Given the description of an element on the screen output the (x, y) to click on. 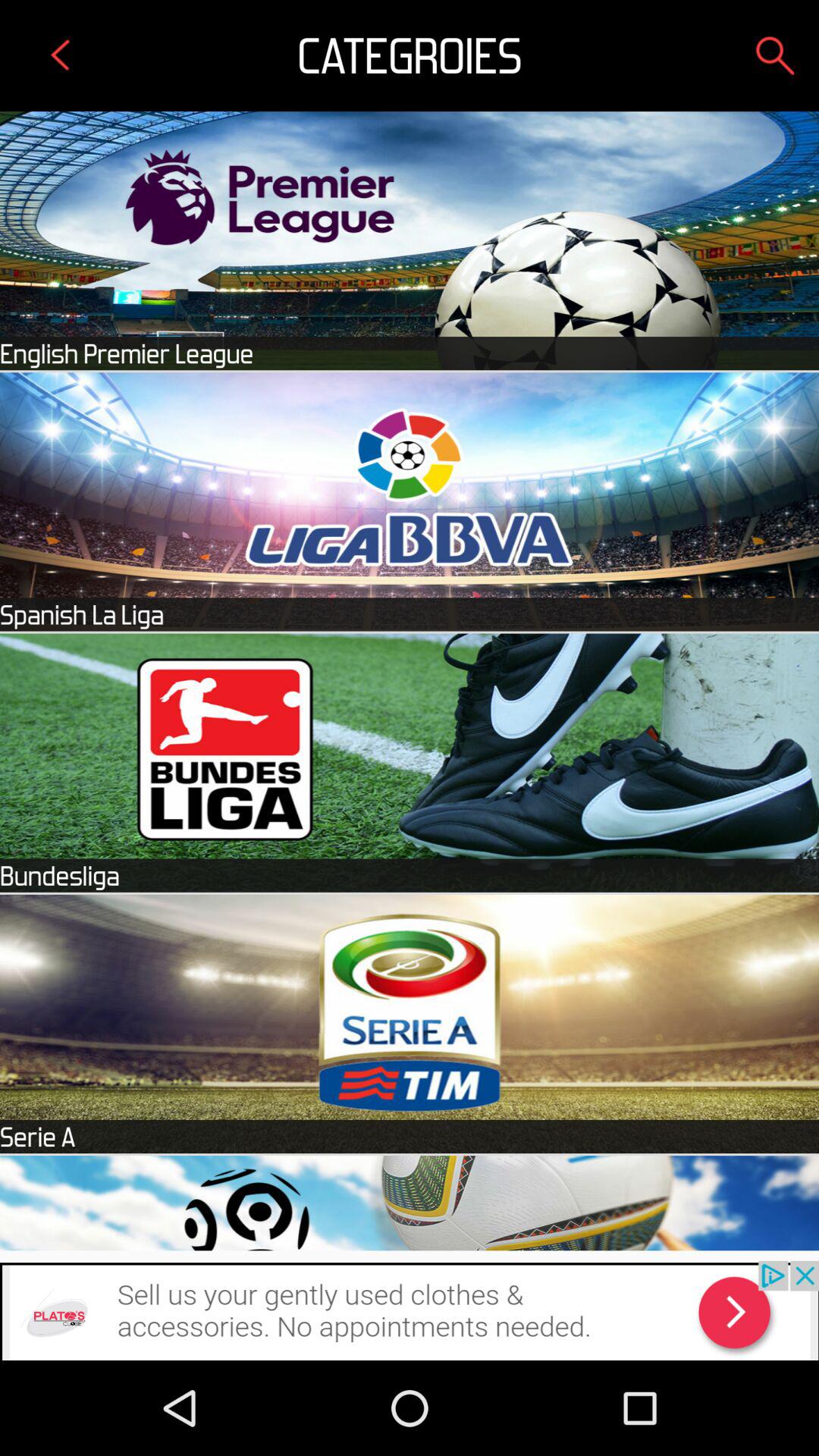
go back (61, 55)
